Given the description of an element on the screen output the (x, y) to click on. 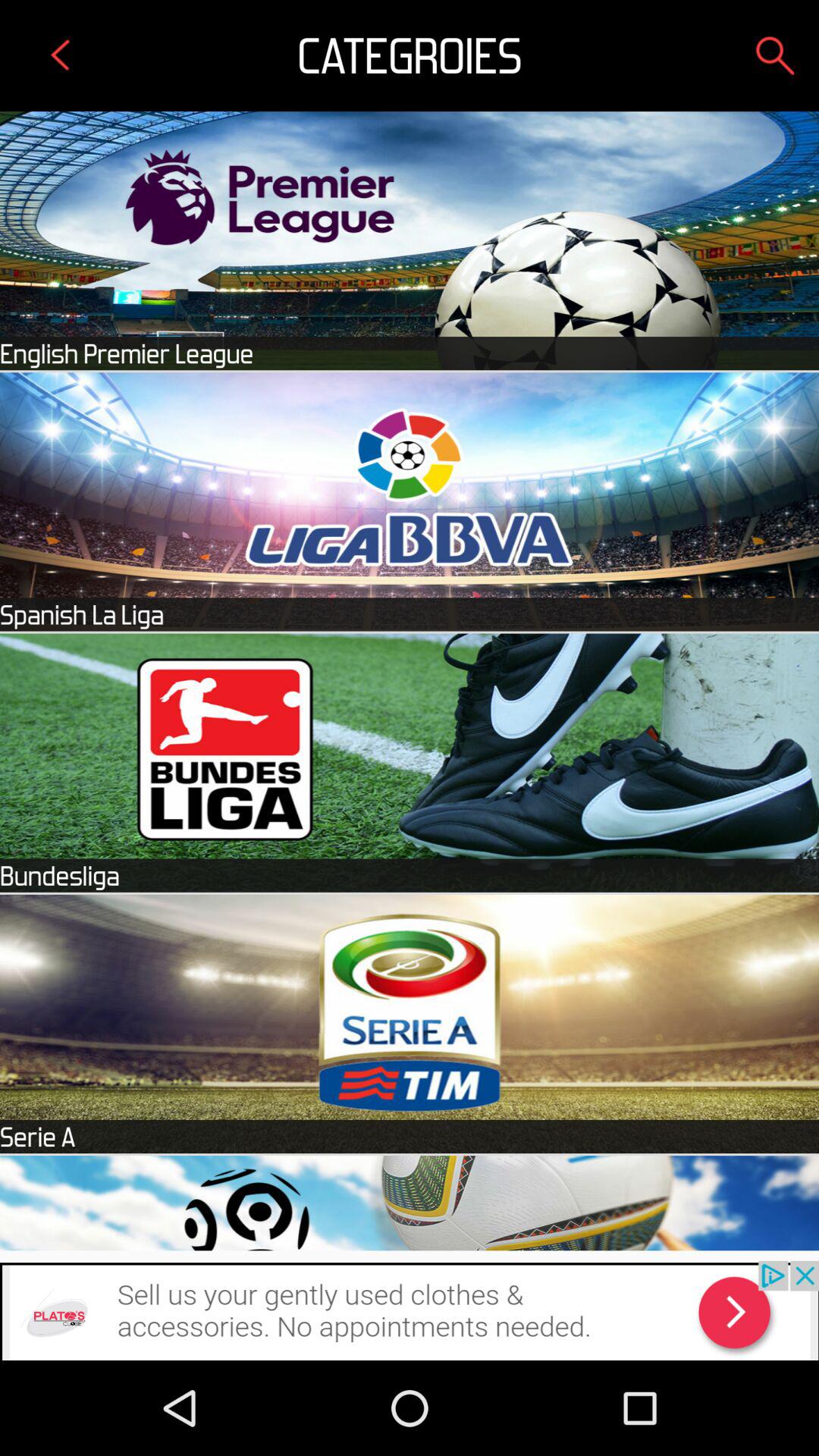
go back (61, 55)
